Given the description of an element on the screen output the (x, y) to click on. 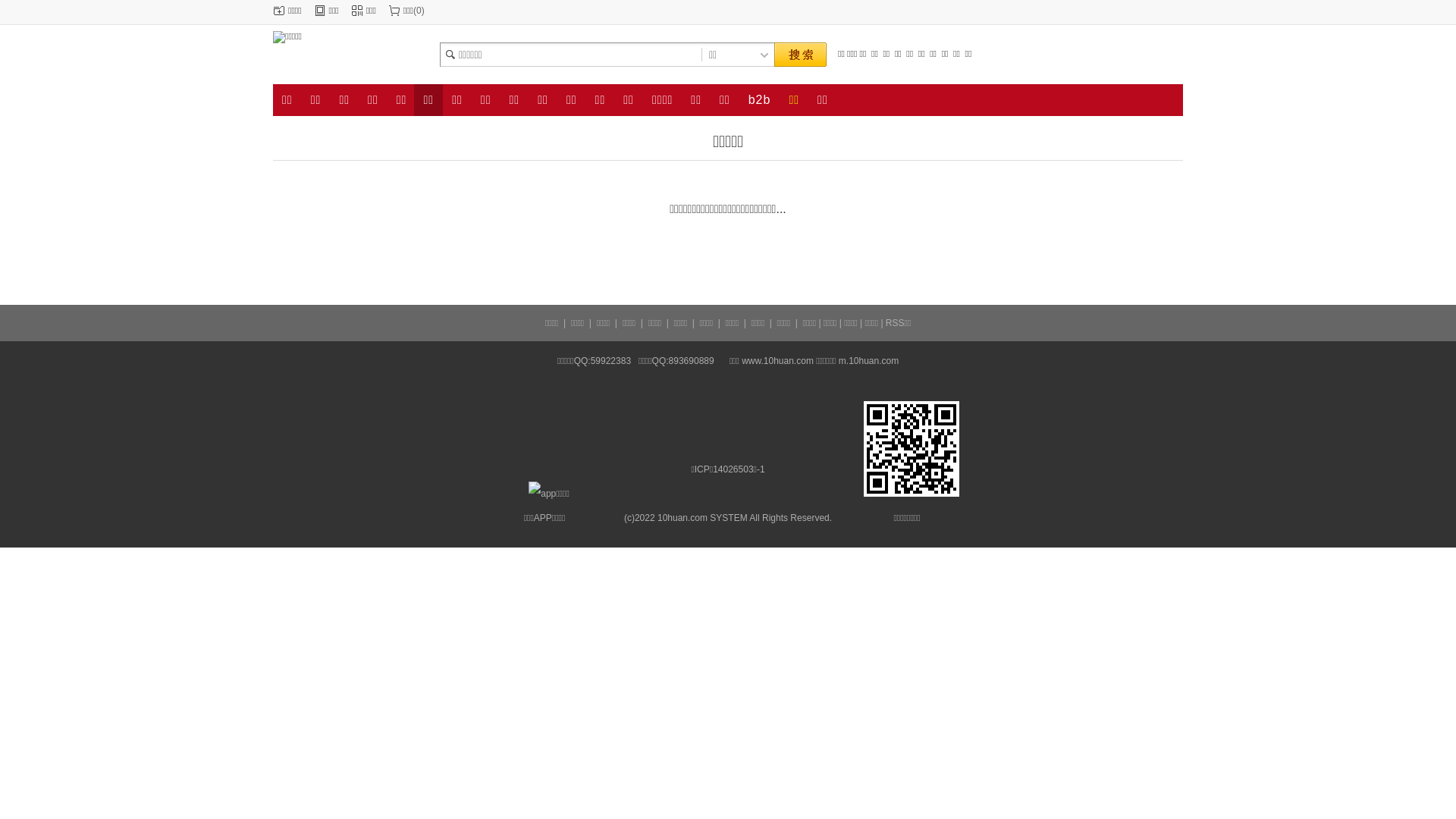
www.10huan.com Element type: text (777, 360)
m.10huan.com Element type: text (868, 360)
  Element type: text (799, 54)
b2b Element type: text (759, 100)
